Given the description of an element on the screen output the (x, y) to click on. 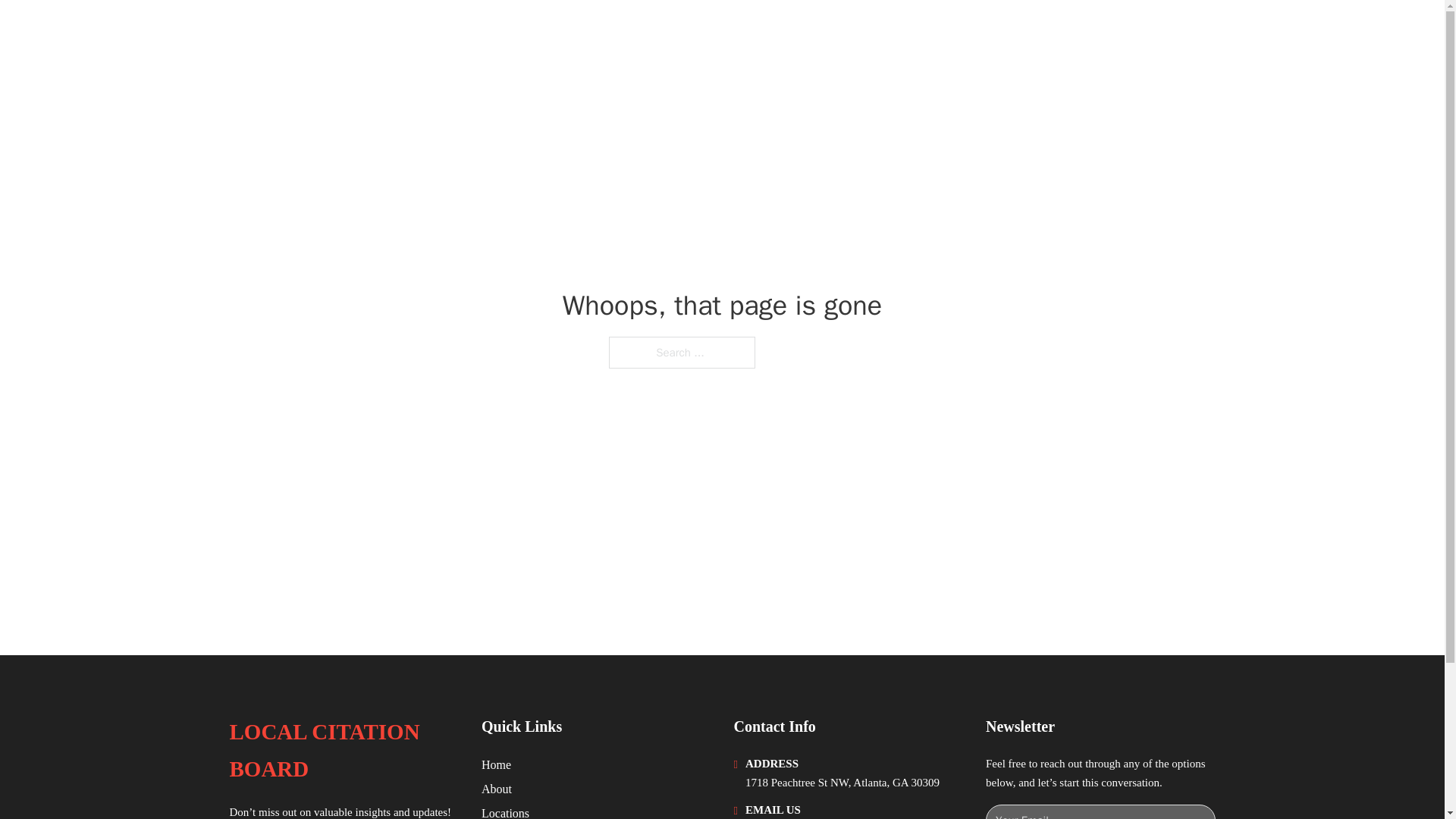
HOME (1025, 31)
LOCAL CITATION BOARD (343, 750)
About (496, 788)
Locations (505, 811)
LOCATIONS (1098, 31)
Home (496, 764)
LOCAL CITATION BOARD (380, 31)
